Given the description of an element on the screen output the (x, y) to click on. 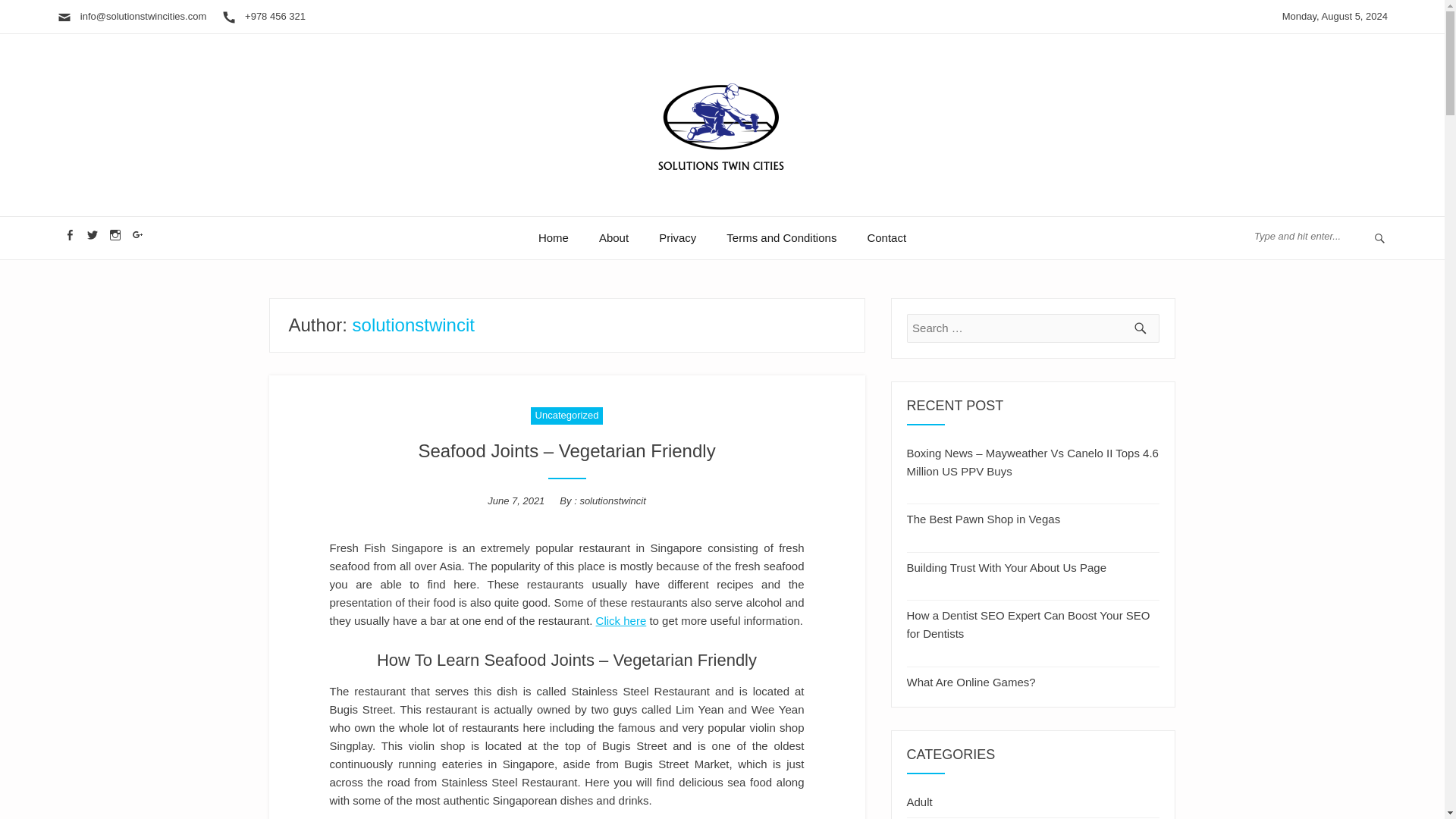
solutionstwincit (612, 500)
Home (552, 238)
About (613, 238)
Privacy (677, 238)
Contact (886, 238)
Terms and Conditions (781, 238)
Click here (620, 620)
Uncategorized (567, 416)
June 7, 2021 (515, 500)
